Given the description of an element on the screen output the (x, y) to click on. 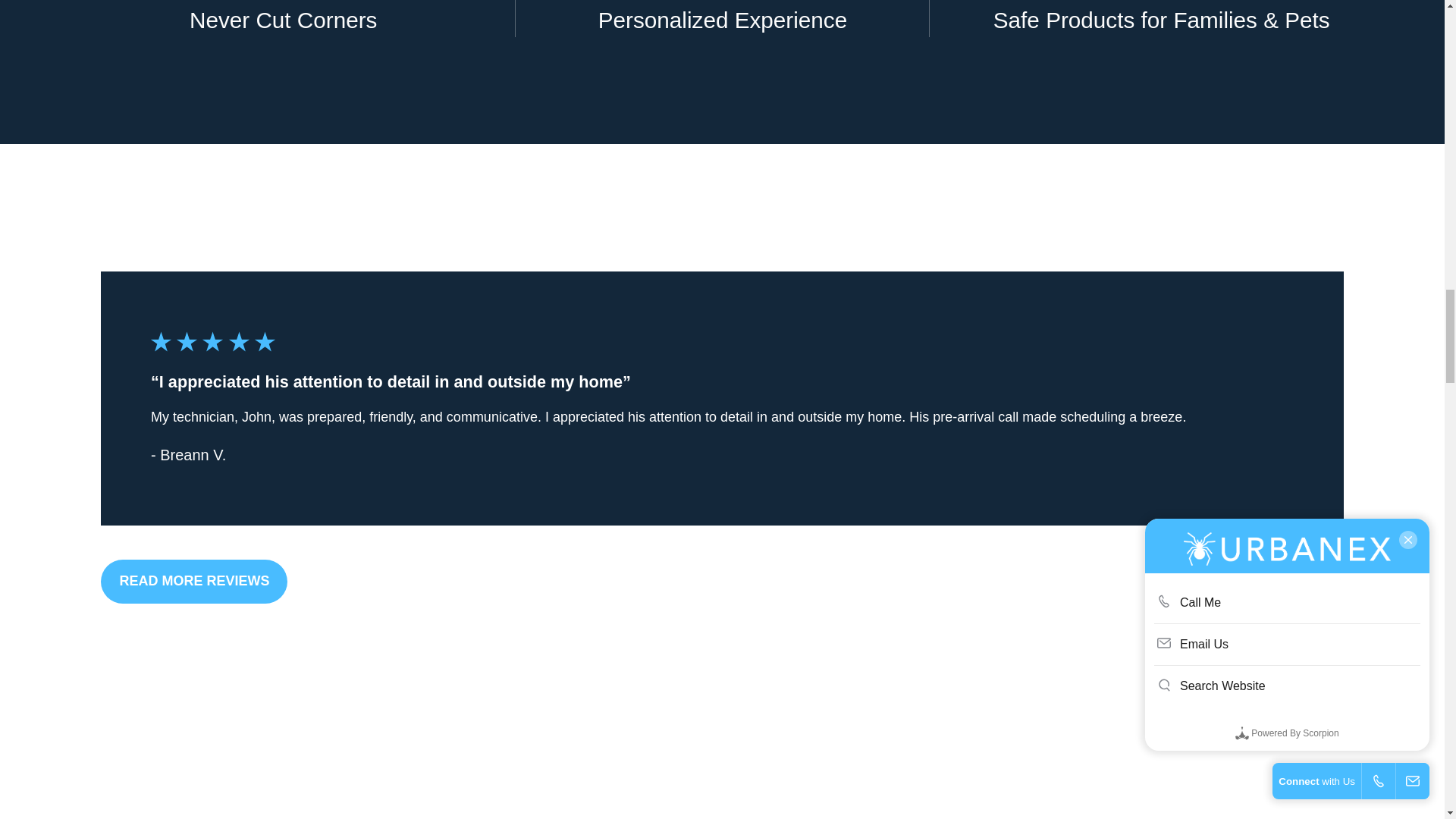
5 Star Rating (213, 341)
